Given the description of an element on the screen output the (x, y) to click on. 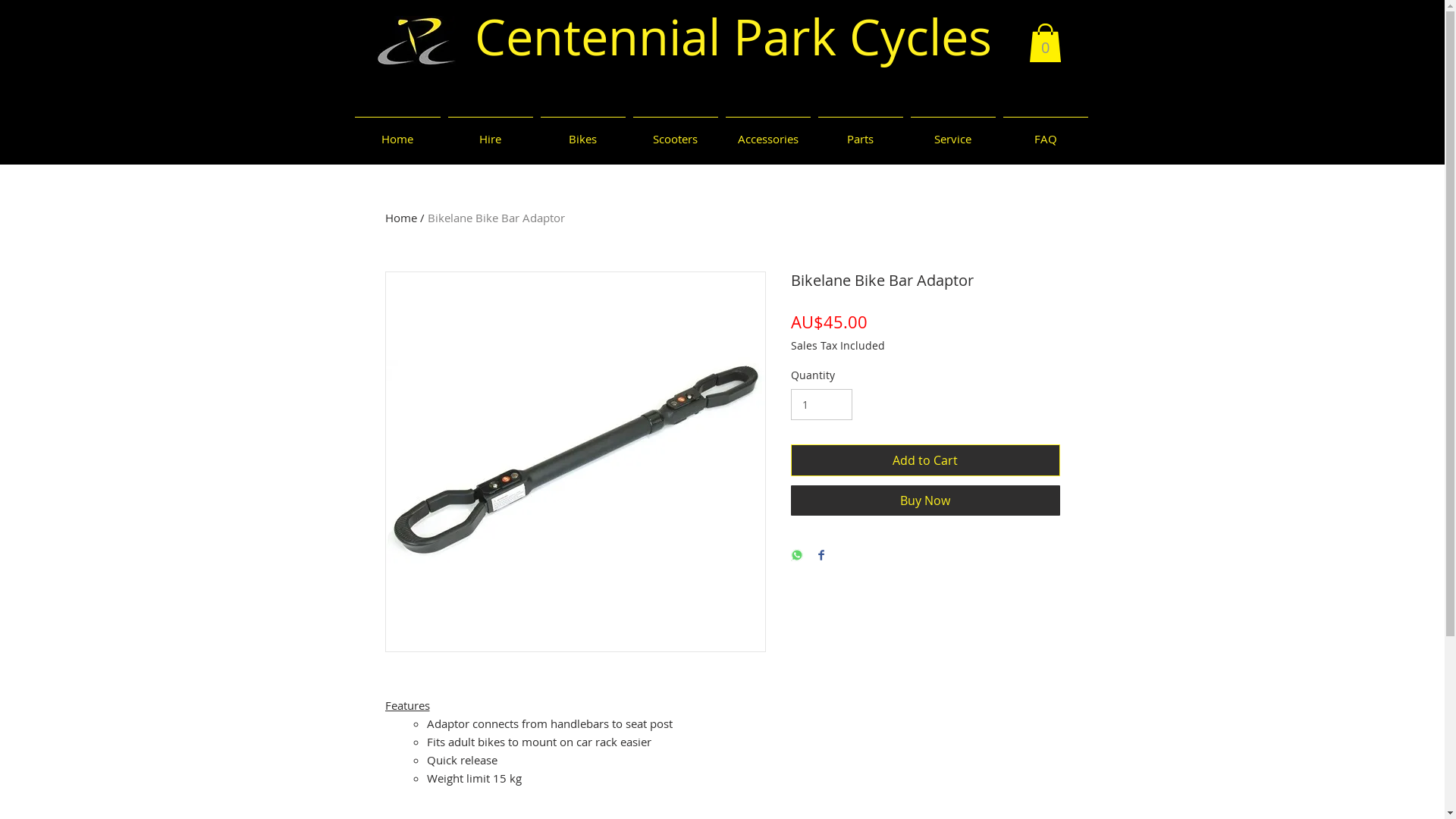
Home Element type: text (396, 131)
Scooters Element type: text (675, 131)
Bikes Element type: text (582, 131)
Add to Cart Element type: text (924, 460)
0 Element type: text (1044, 42)
FAQ Element type: text (1045, 131)
Hire Element type: text (490, 131)
Service Element type: text (952, 131)
Accessories Element type: text (767, 131)
Parts Element type: text (860, 131)
Home Element type: text (401, 217)
Buy Now Element type: text (924, 500)
